Given the description of an element on the screen output the (x, y) to click on. 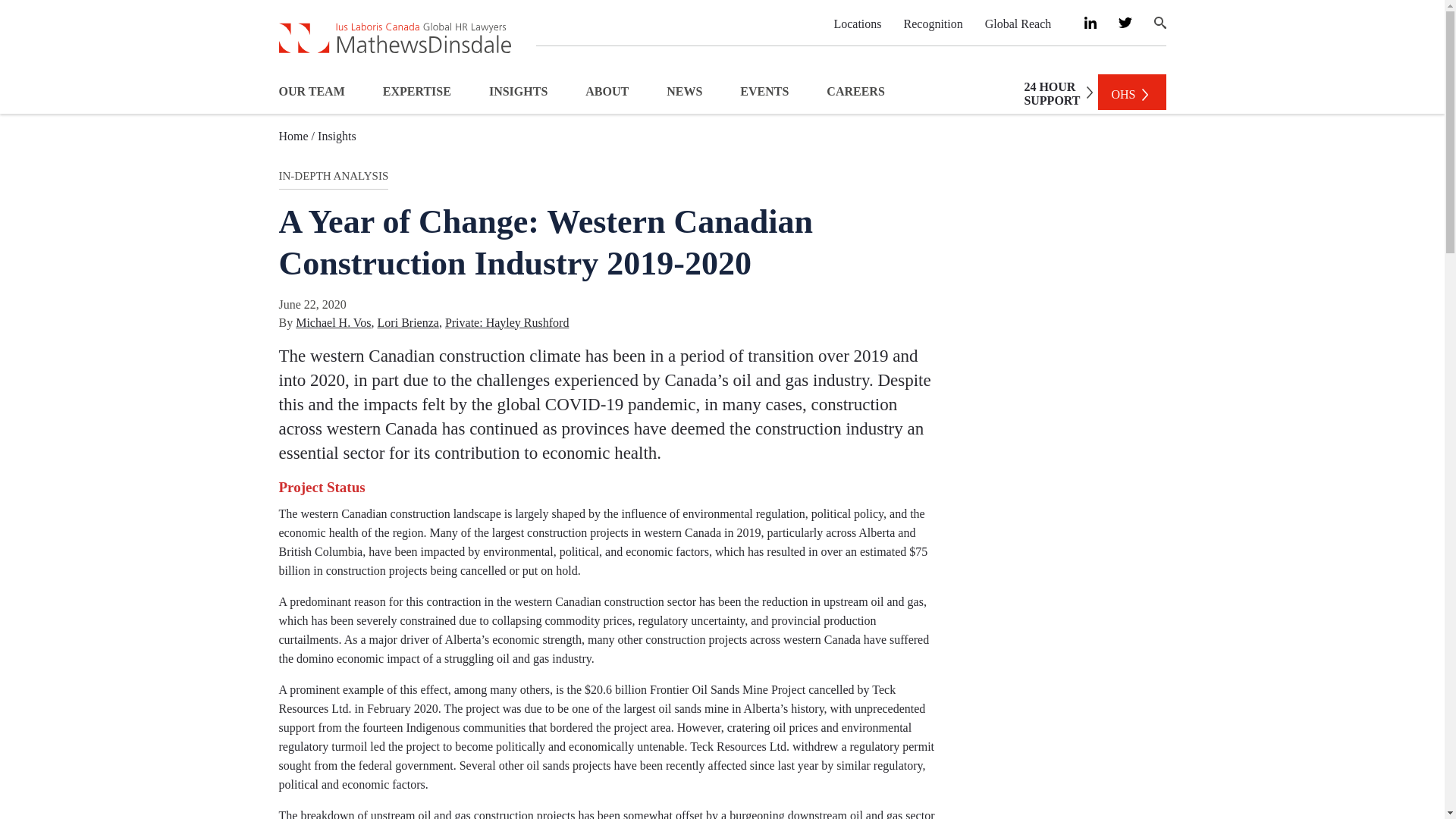
Private: Hayley Rushford (507, 322)
Go to home. (297, 135)
Go to Insights. (336, 135)
INSIGHTS (518, 91)
EVENTS (764, 91)
OHS (1131, 91)
Locations (856, 23)
ABOUT (606, 91)
Recognition (933, 23)
Lori Brienza (409, 322)
CAREERS (855, 91)
Global Reach (1018, 23)
EXPERTISE (416, 91)
NEWS (1054, 92)
